Given the description of an element on the screen output the (x, y) to click on. 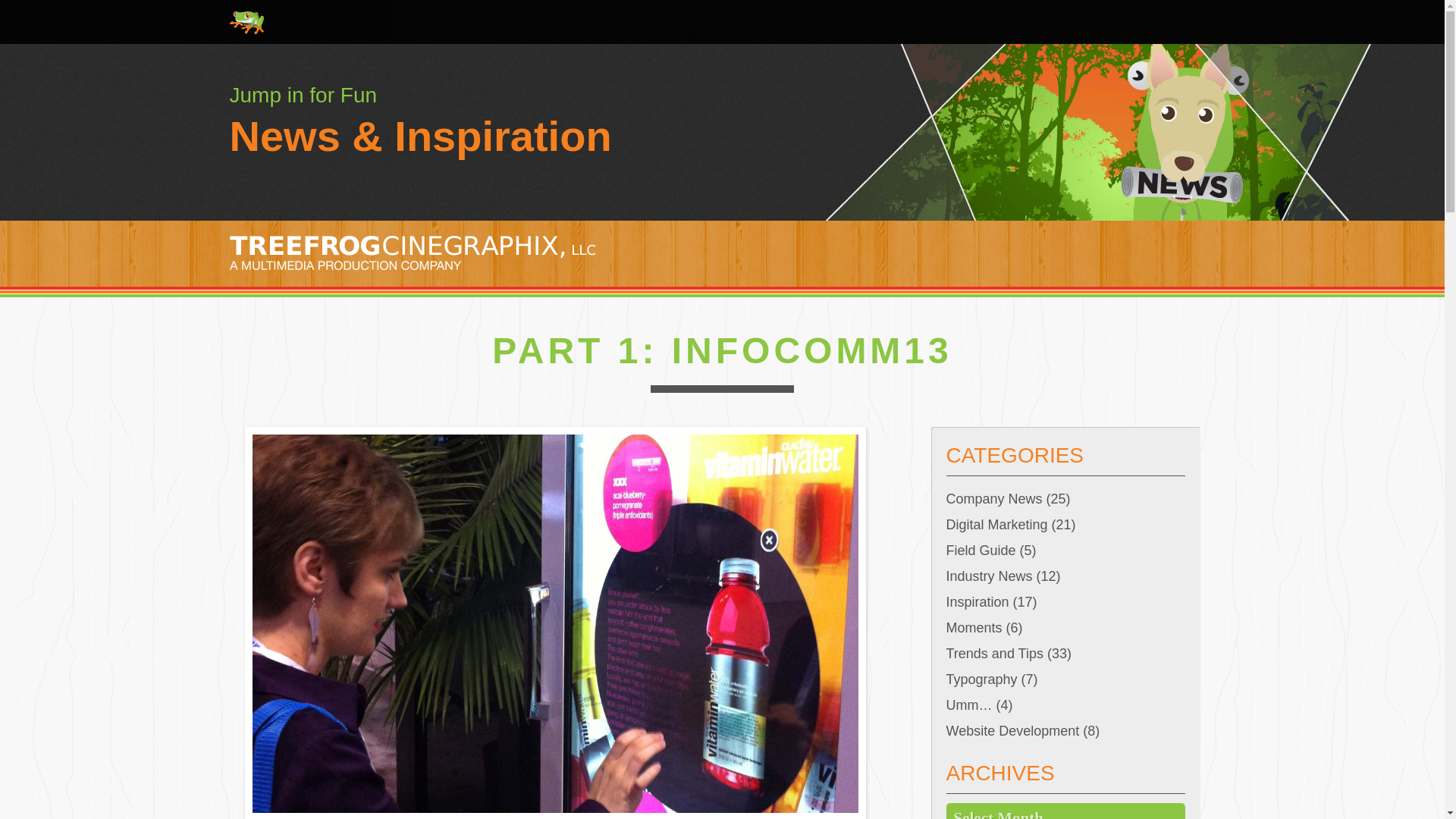
Moments (974, 627)
PART 1: INFOCOMM13 (722, 350)
Digital Marketing (997, 524)
Typography (981, 679)
Inspiration (977, 601)
Field Guide (981, 550)
Trends and Tips (994, 653)
Website Development (1013, 730)
Company News (994, 498)
Industry News (989, 576)
